Given the description of an element on the screen output the (x, y) to click on. 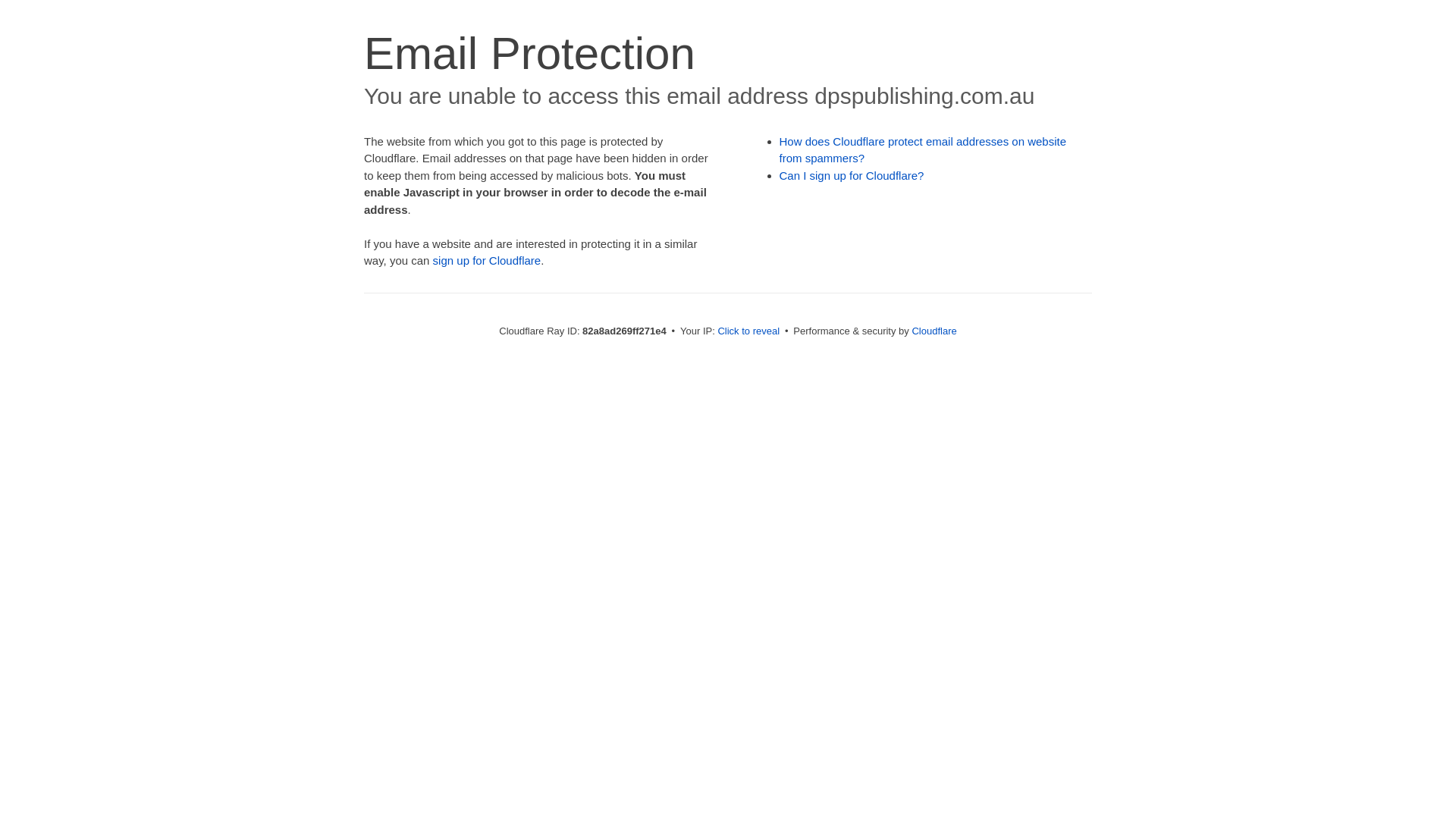
Cloudflare Element type: text (933, 330)
Can I sign up for Cloudflare? Element type: text (851, 175)
sign up for Cloudflare Element type: text (487, 260)
Click to reveal Element type: text (748, 330)
